Given the description of an element on the screen output the (x, y) to click on. 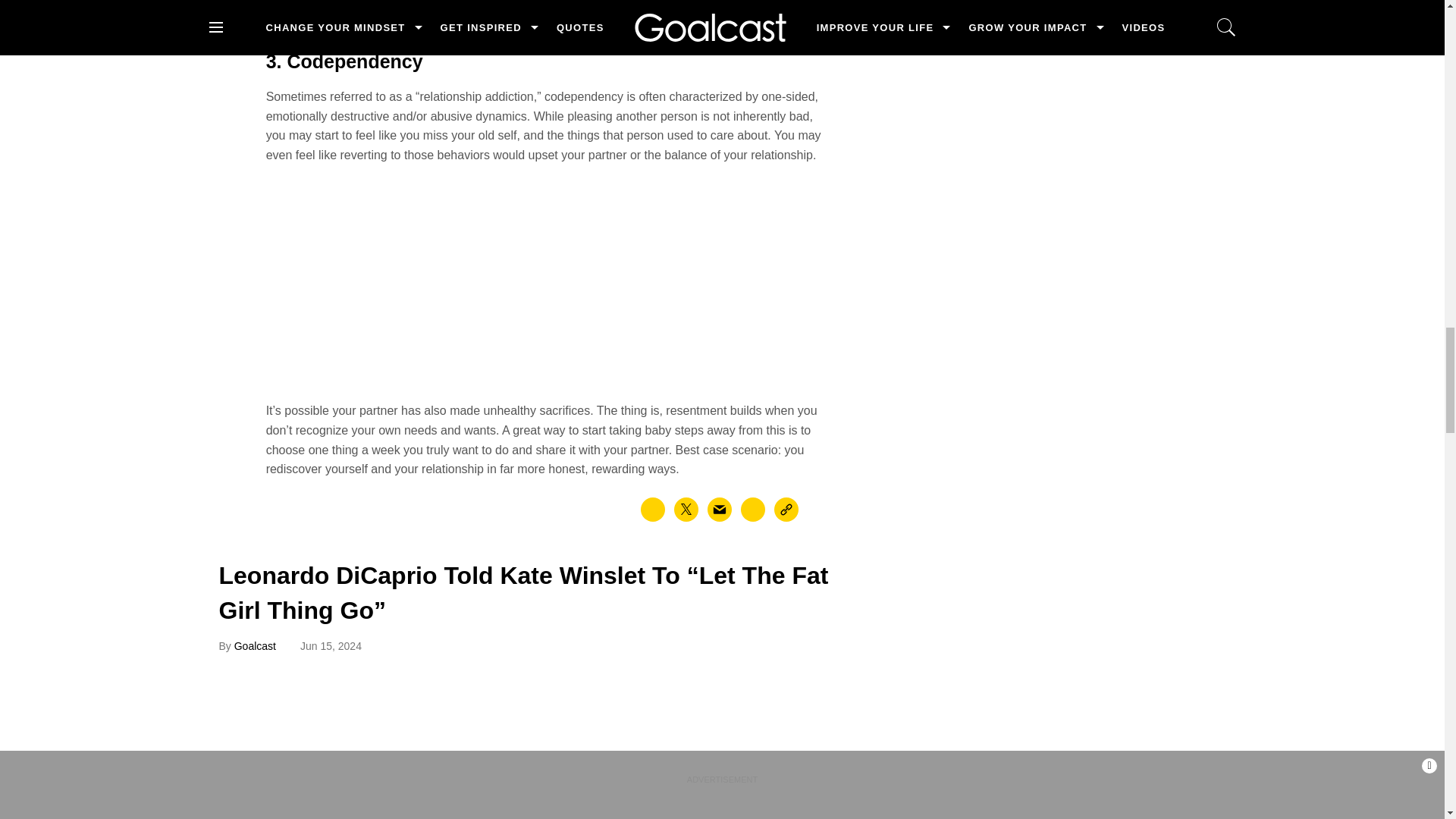
Copy this link to clipboard (785, 509)
